Given the description of an element on the screen output the (x, y) to click on. 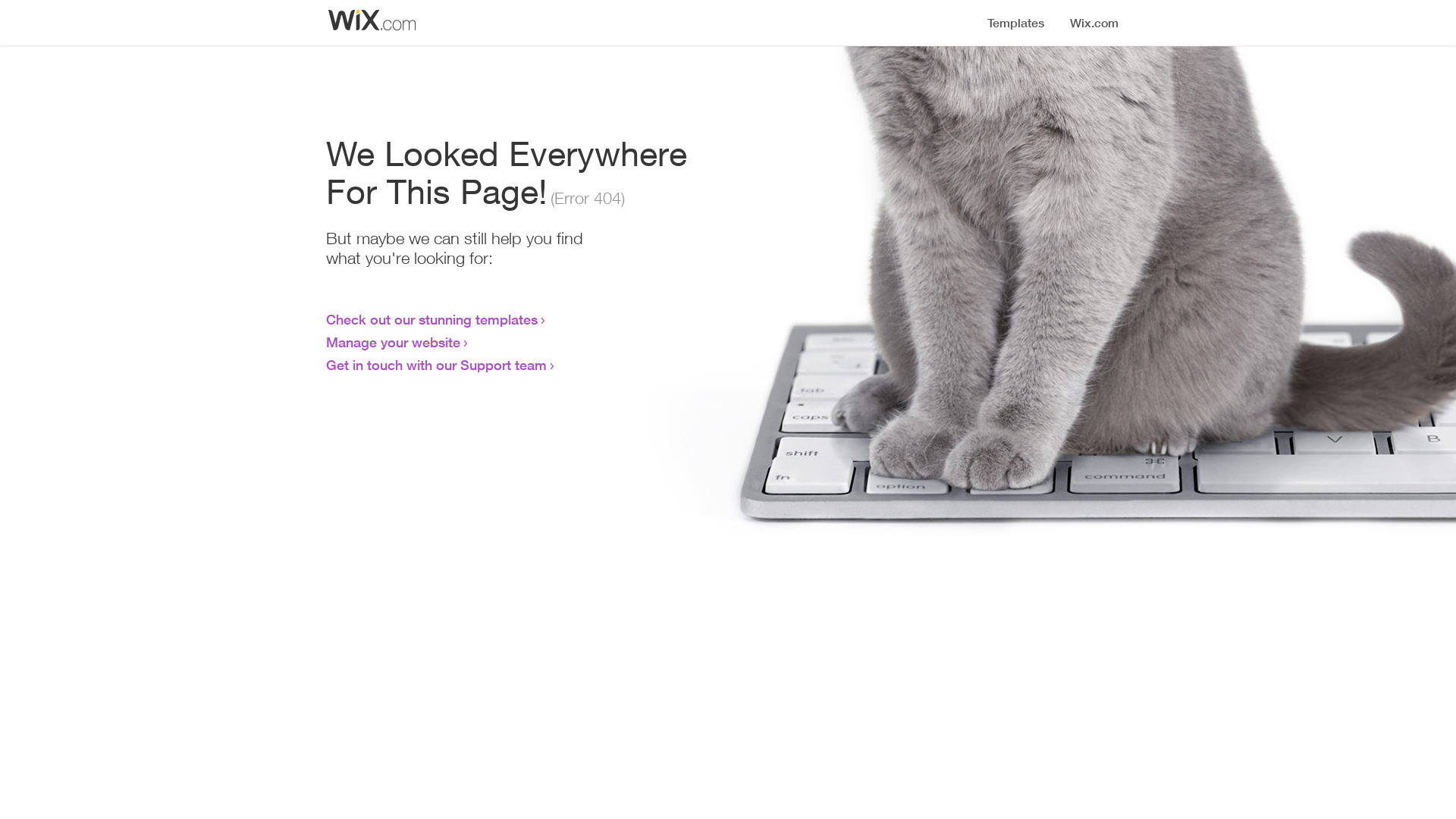
Check out our stunning templates Element type: text (431, 318)
Manage your website Element type: text (393, 341)
Get in touch with our Support team Element type: text (436, 364)
